Given the description of an element on the screen output the (x, y) to click on. 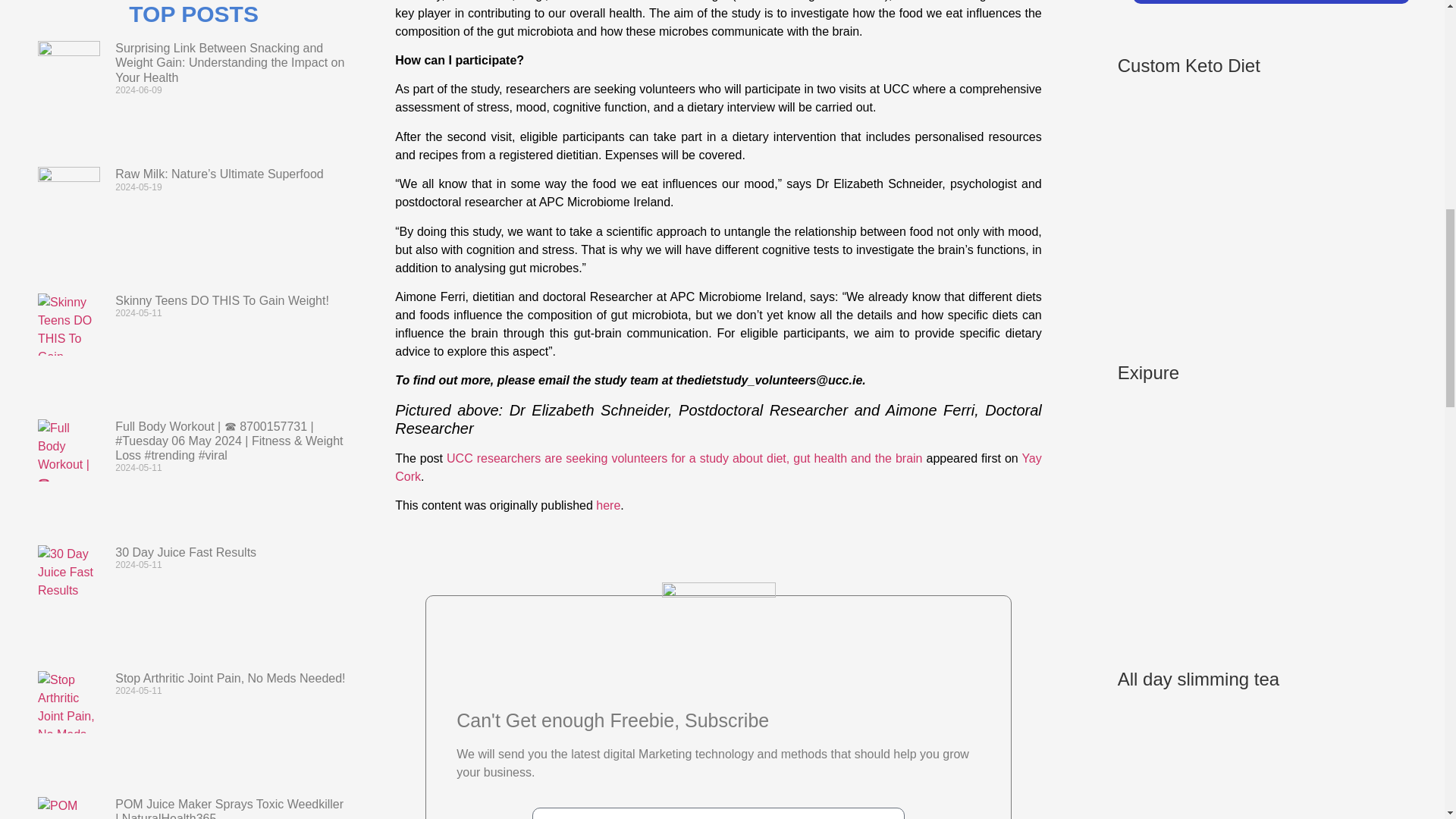
Custom Keto Diet (1231, 312)
Exipure (1231, 619)
